Given the description of an element on the screen output the (x, y) to click on. 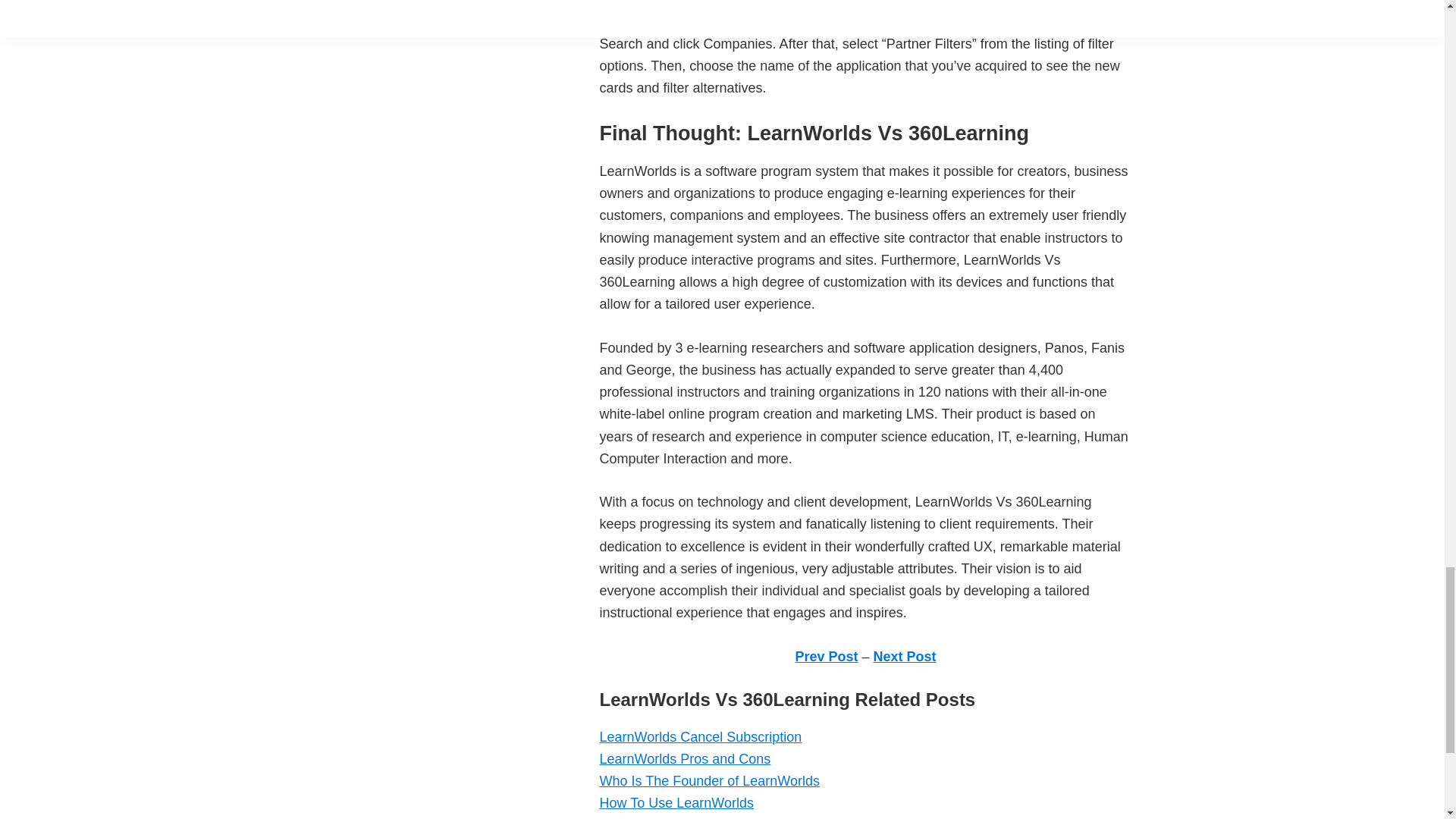
LearnWorlds Pros and Cons (684, 758)
How To Use LearnWorlds (675, 802)
Who Is The Founder of LearnWorlds (708, 780)
Who Is The Founder of LearnWorlds (708, 780)
Prev Post (825, 656)
How To Use LearnWorlds (675, 802)
LearnWorlds Cancel Subscription (700, 736)
Next Post (904, 656)
LearnWorlds Cancel Subscription (700, 736)
